Given the description of an element on the screen output the (x, y) to click on. 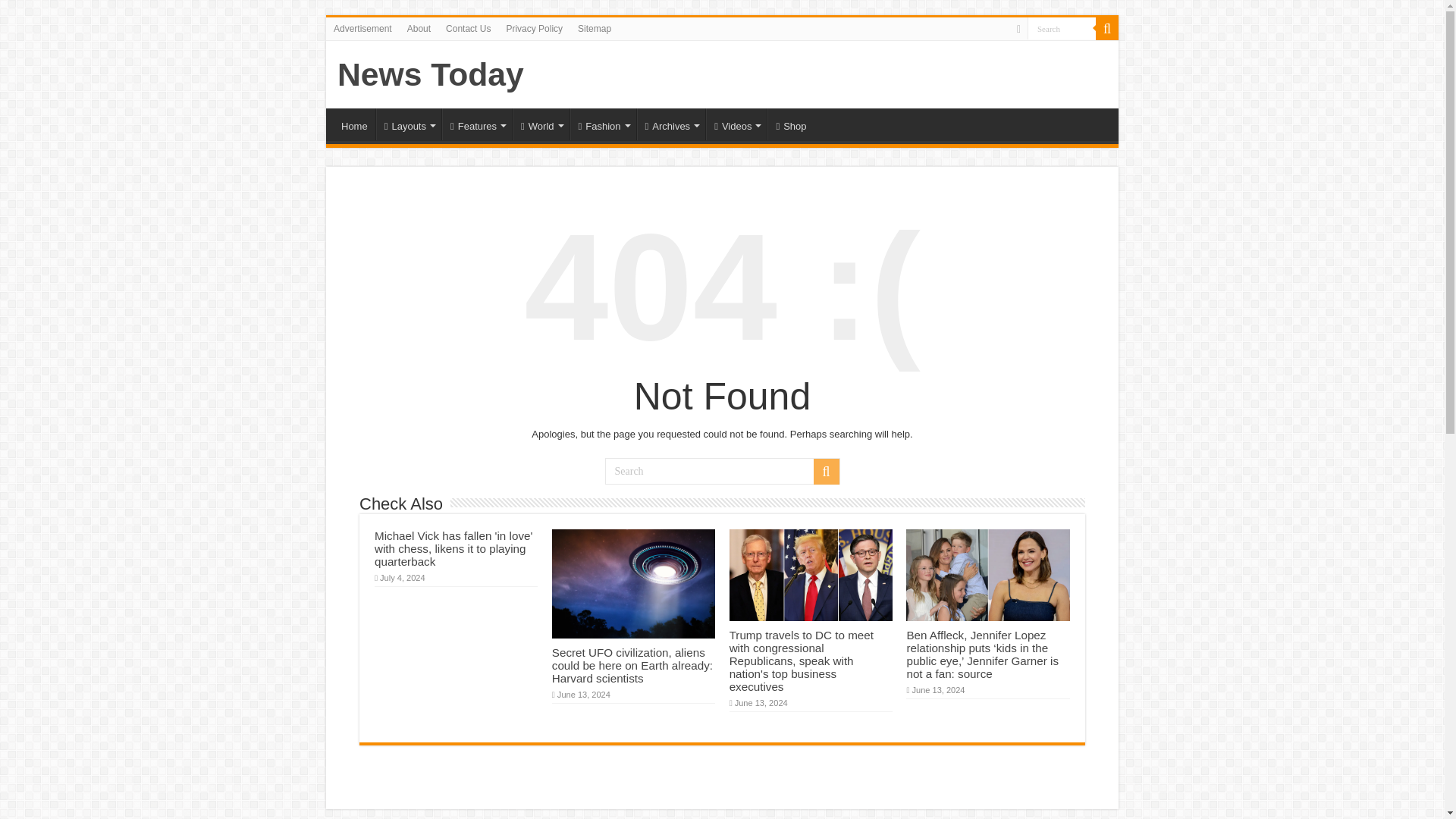
Rss (1018, 29)
Search (1061, 28)
Search (1061, 28)
Search (1061, 28)
Search (722, 470)
